Given the description of an element on the screen output the (x, y) to click on. 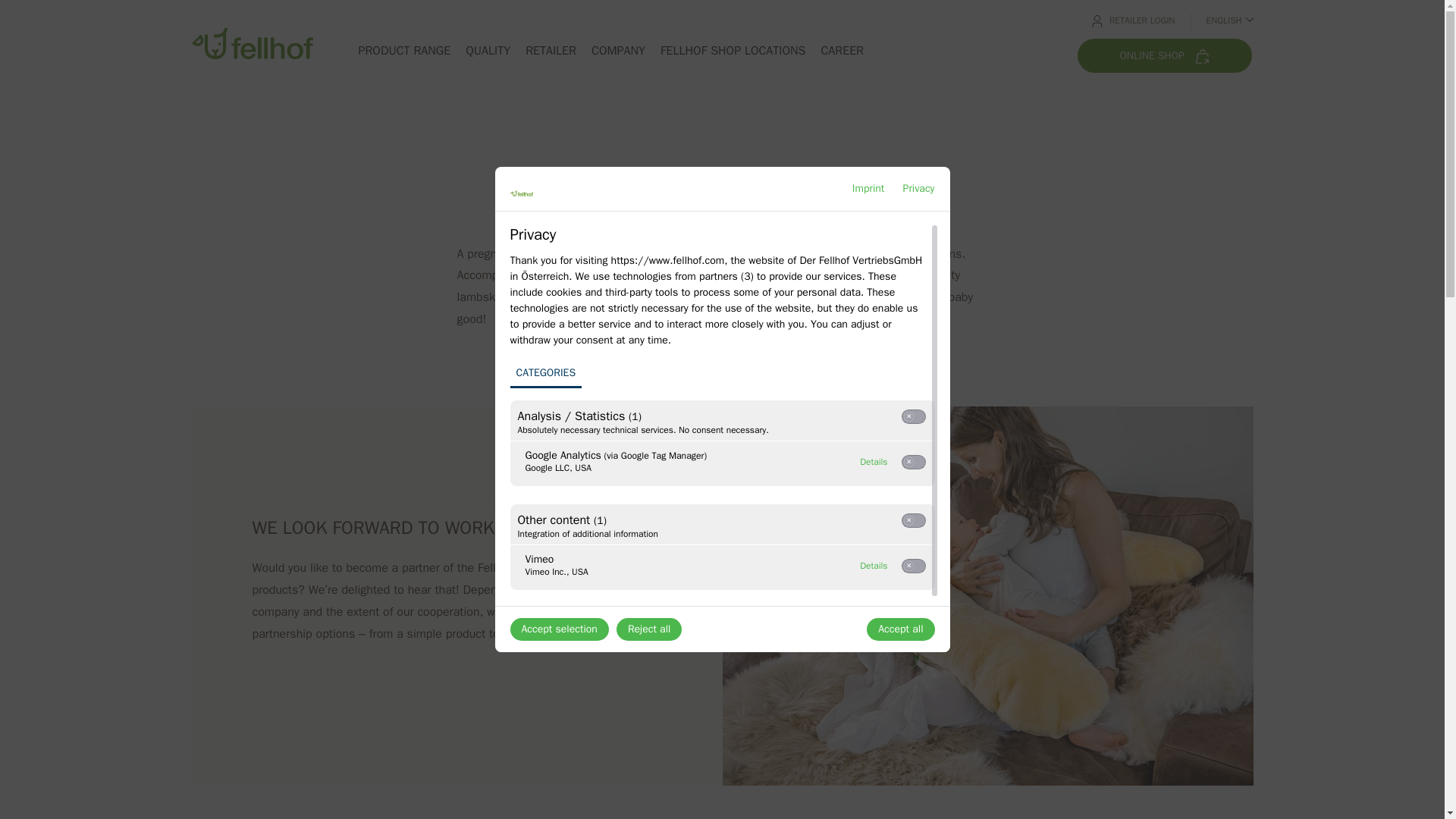
Link to privacy policy (918, 187)
Vimeo (873, 565)
QUALITY (488, 50)
FELLHOF SHOP LOCATIONS (733, 50)
Link to imprint (873, 565)
CATEGORIES (868, 187)
Privacy (544, 374)
RETAILER (918, 187)
